Given the description of an element on the screen output the (x, y) to click on. 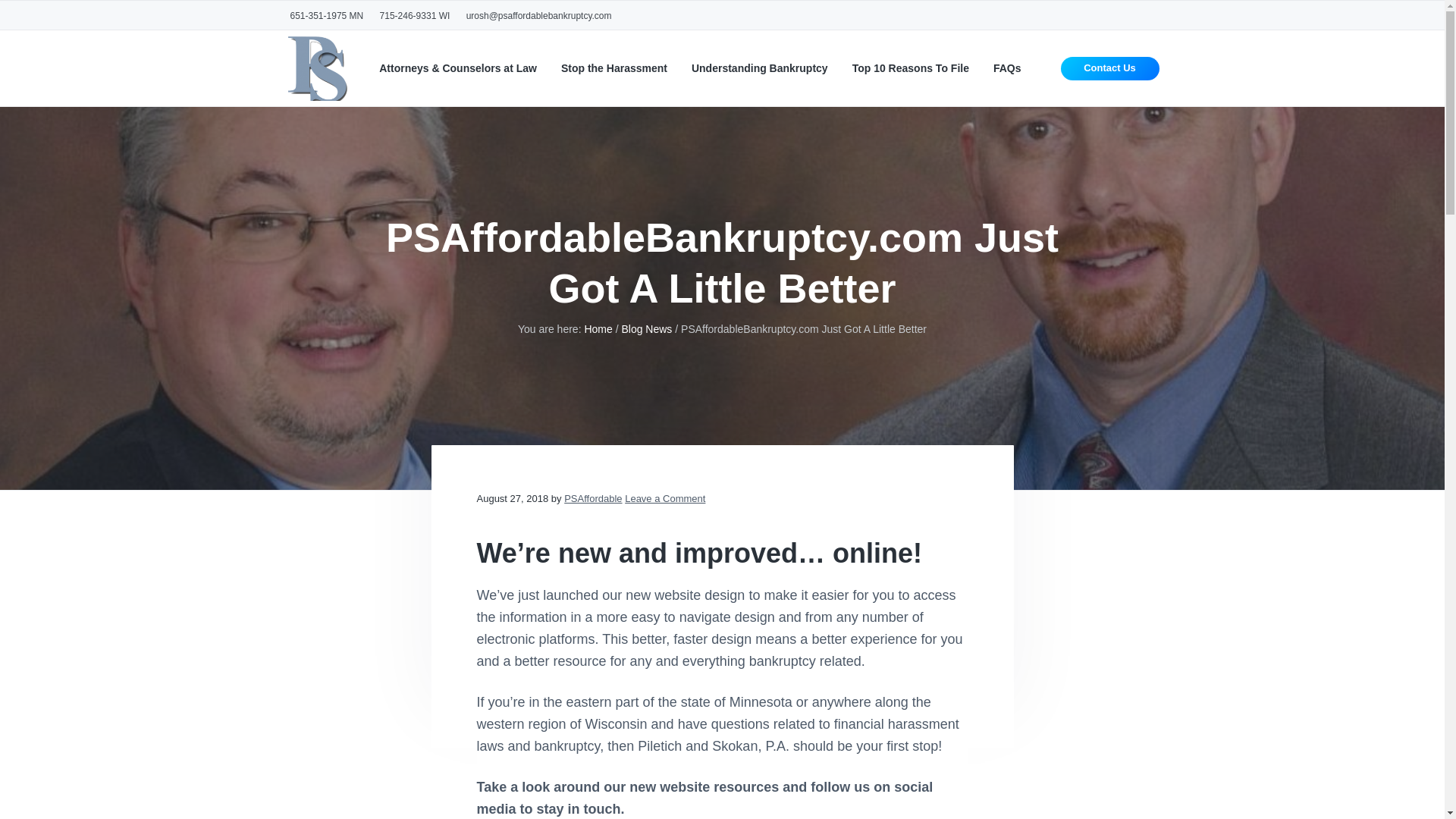
Top 10 Reasons To File (910, 67)
Blog News (646, 328)
Leave a Comment (664, 498)
Home (597, 328)
FAQs (1007, 67)
Stop the Harassment (613, 67)
PSAffordable (592, 498)
Contact Us (1109, 68)
Understanding Bankruptcy (759, 67)
